Given the description of an element on the screen output the (x, y) to click on. 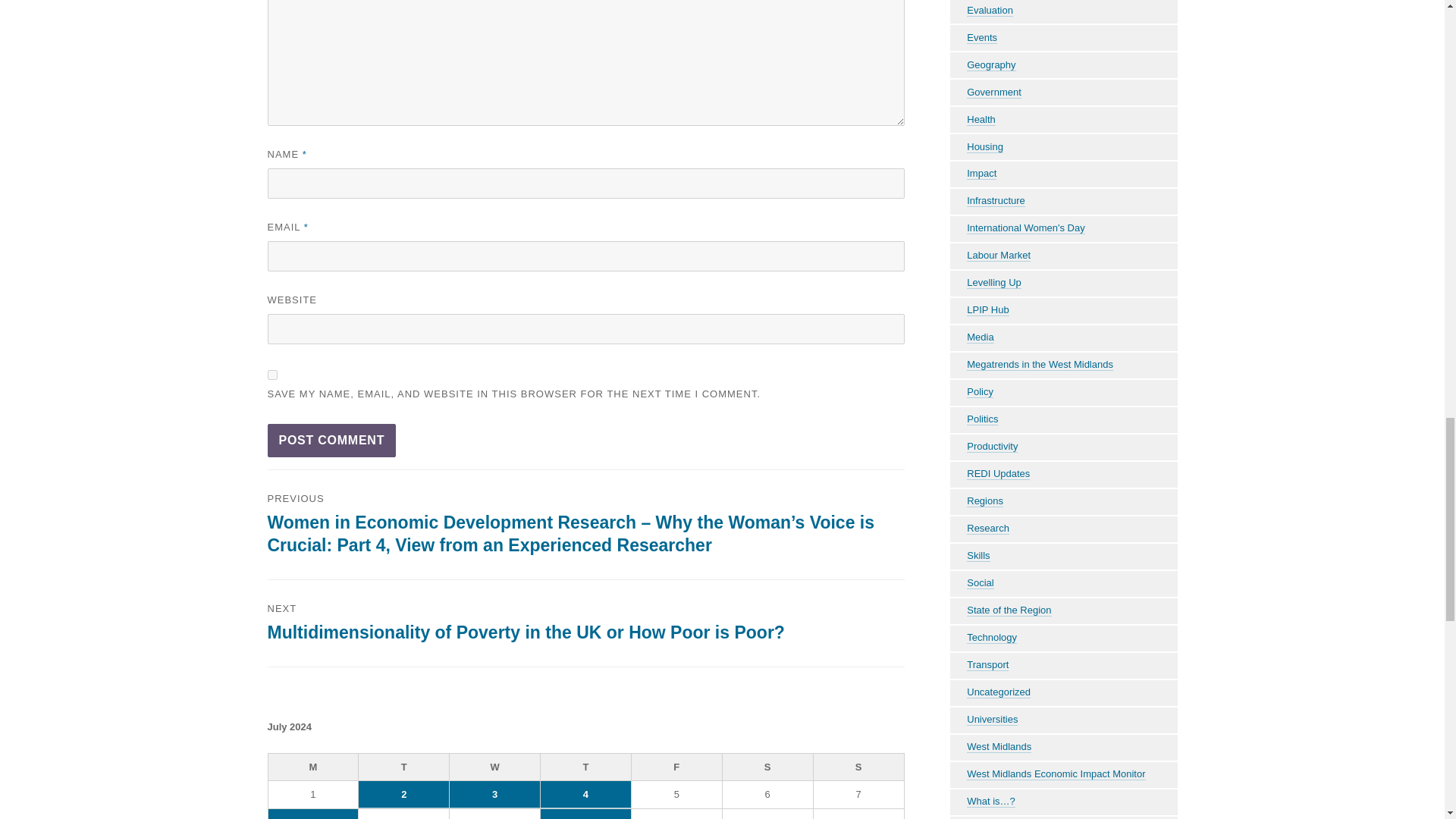
8 (312, 814)
Post Comment (331, 440)
Wednesday (494, 767)
Sunday (858, 767)
3 (494, 794)
Monday (313, 767)
yes (271, 375)
Friday (676, 767)
2 (403, 794)
Saturday (767, 767)
4 (585, 794)
Post Comment (331, 440)
Tuesday (403, 767)
Thursday (585, 767)
